Given the description of an element on the screen output the (x, y) to click on. 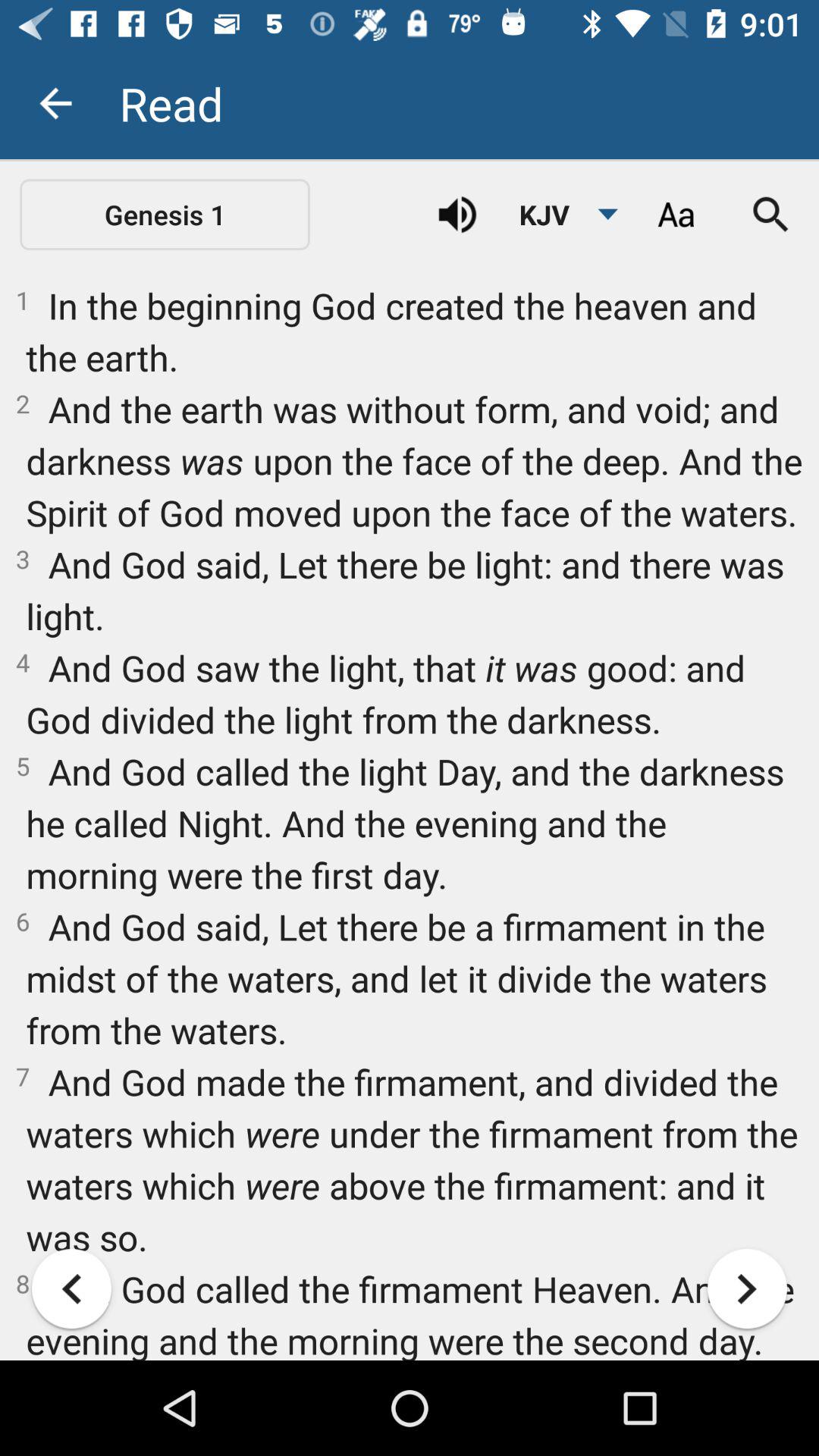
jump to genesis 1 icon (164, 214)
